Given the description of an element on the screen output the (x, y) to click on. 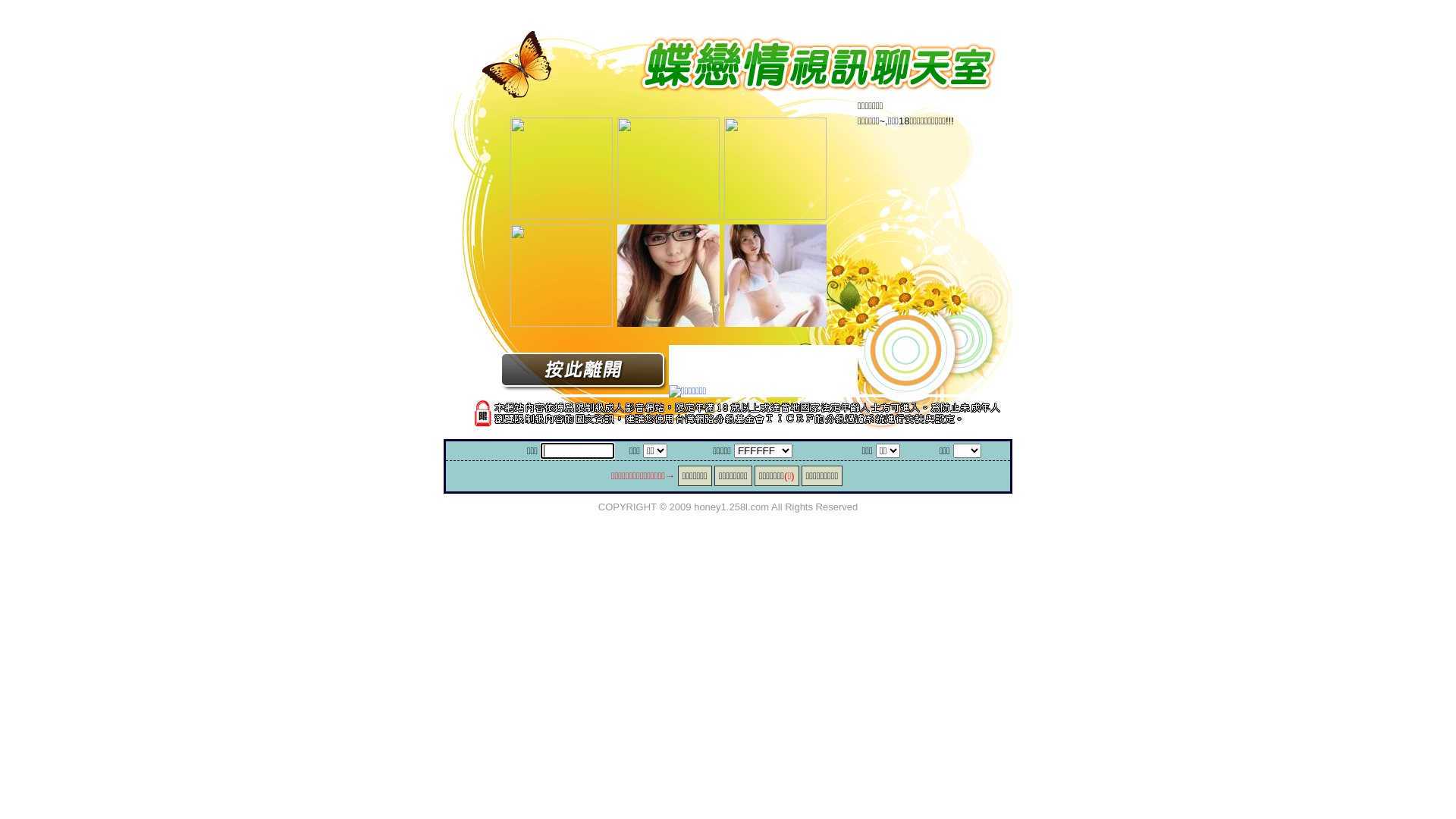
honey1.258l.com Element type: text (730, 505)
